Given the description of an element on the screen output the (x, y) to click on. 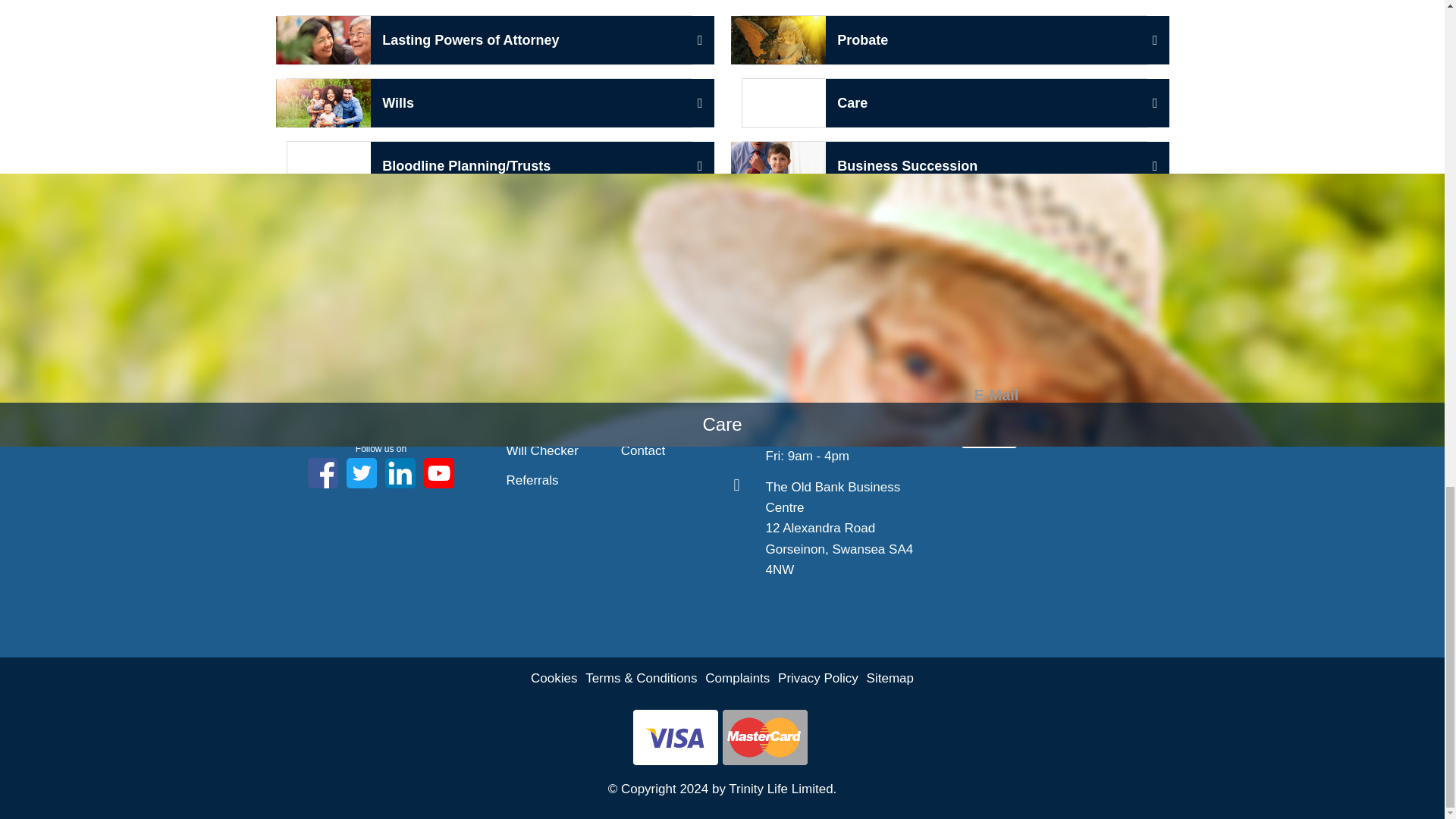
Services (531, 421)
YouTube (438, 472)
Twitter (381, 374)
Business Succession (361, 472)
Lasting Powers of Attorney (944, 165)
Care (489, 40)
Home (944, 102)
Probate (523, 361)
About (944, 40)
Wills (523, 390)
LinkedIn (489, 102)
